Given the description of an element on the screen output the (x, y) to click on. 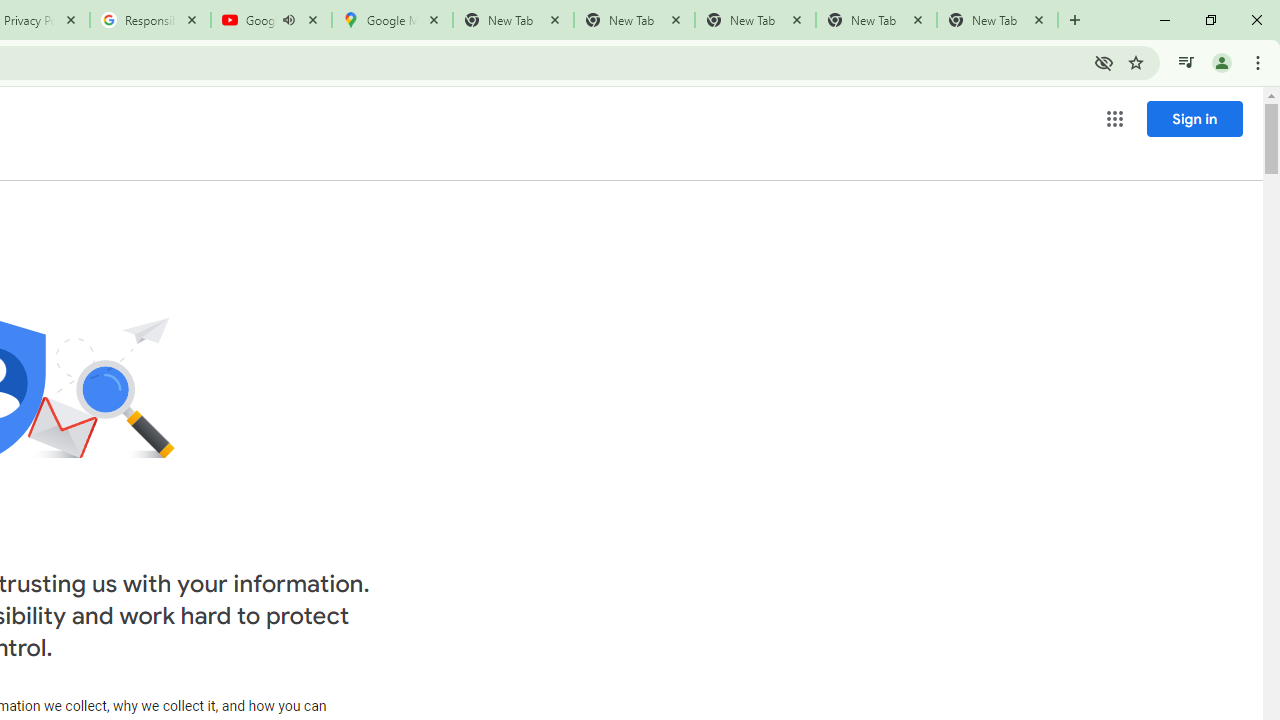
Mute tab (288, 20)
